Given the description of an element on the screen output the (x, y) to click on. 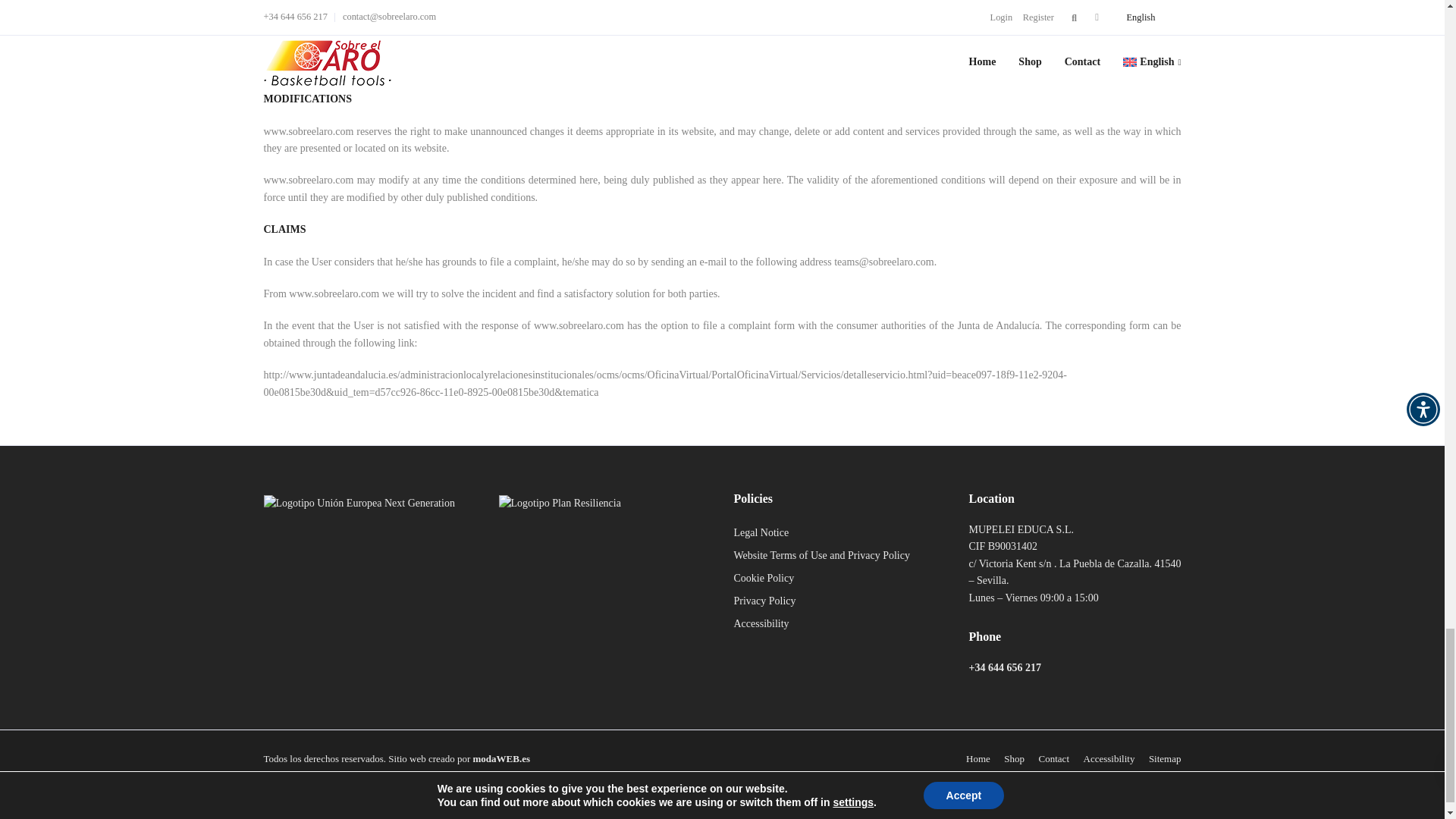
Accessibility (761, 623)
Home (978, 758)
modaWEB.es (501, 758)
Legal Notice (761, 532)
Shop (1014, 758)
Sitemap (1164, 758)
Privacy Policy (764, 600)
English (665, 803)
Website Terms of Use and Privacy Policy (821, 555)
Accessibility (1108, 758)
